Given the description of an element on the screen output the (x, y) to click on. 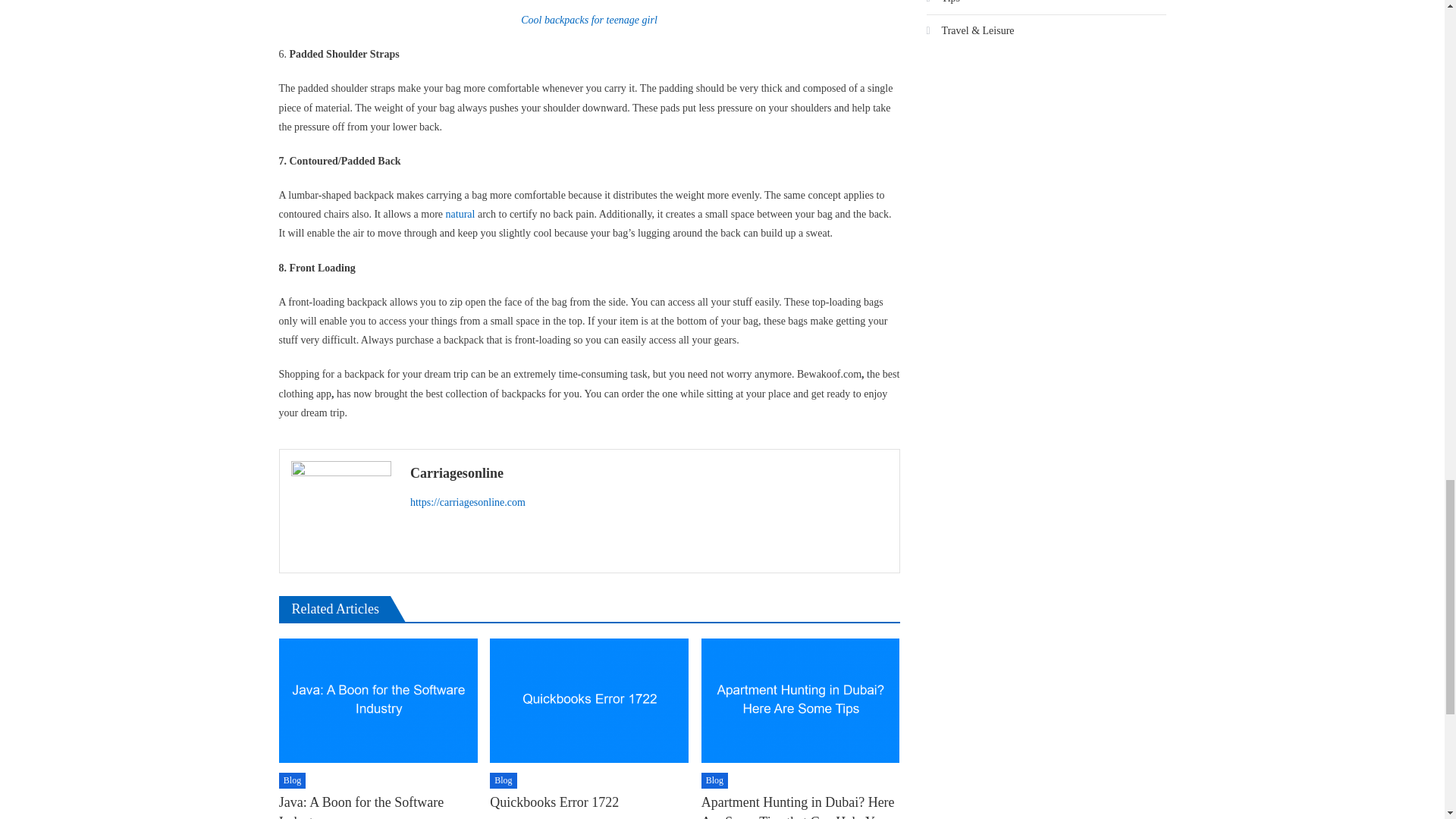
Quickbooks Error 1722 (588, 700)
Java: A Boon for the Software Industry (378, 700)
